Given the description of an element on the screen output the (x, y) to click on. 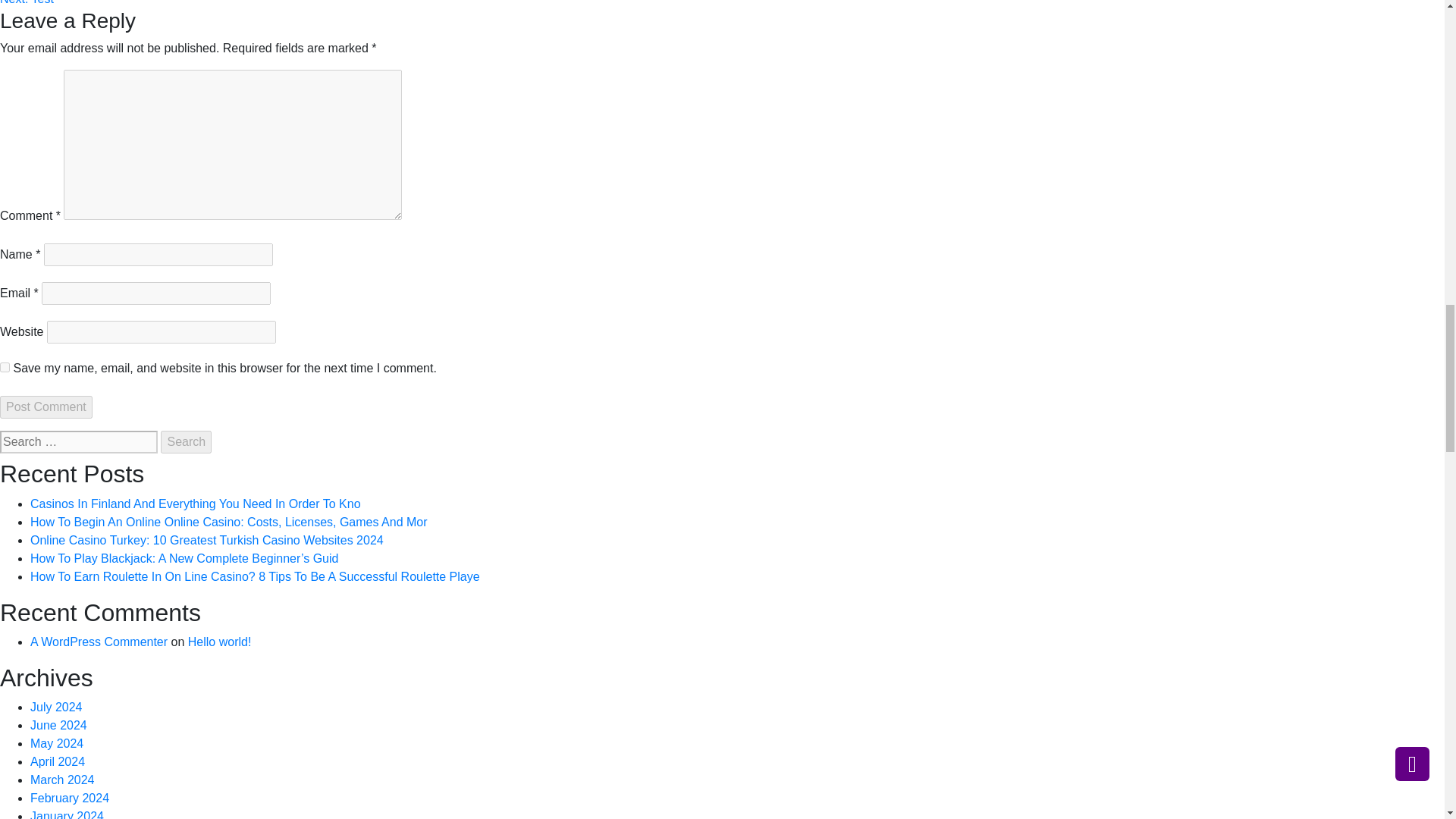
Search (185, 441)
Casinos In Finland And Everything You Need In Order To Kno (195, 503)
Post Comment (46, 406)
A WordPress Commenter (98, 641)
Next: Test (26, 2)
February 2024 (69, 797)
July 2024 (56, 707)
yes (5, 367)
Post Comment (46, 406)
January 2024 (66, 814)
April 2024 (57, 761)
Hello world! (219, 641)
Search (185, 441)
